Given the description of an element on the screen output the (x, y) to click on. 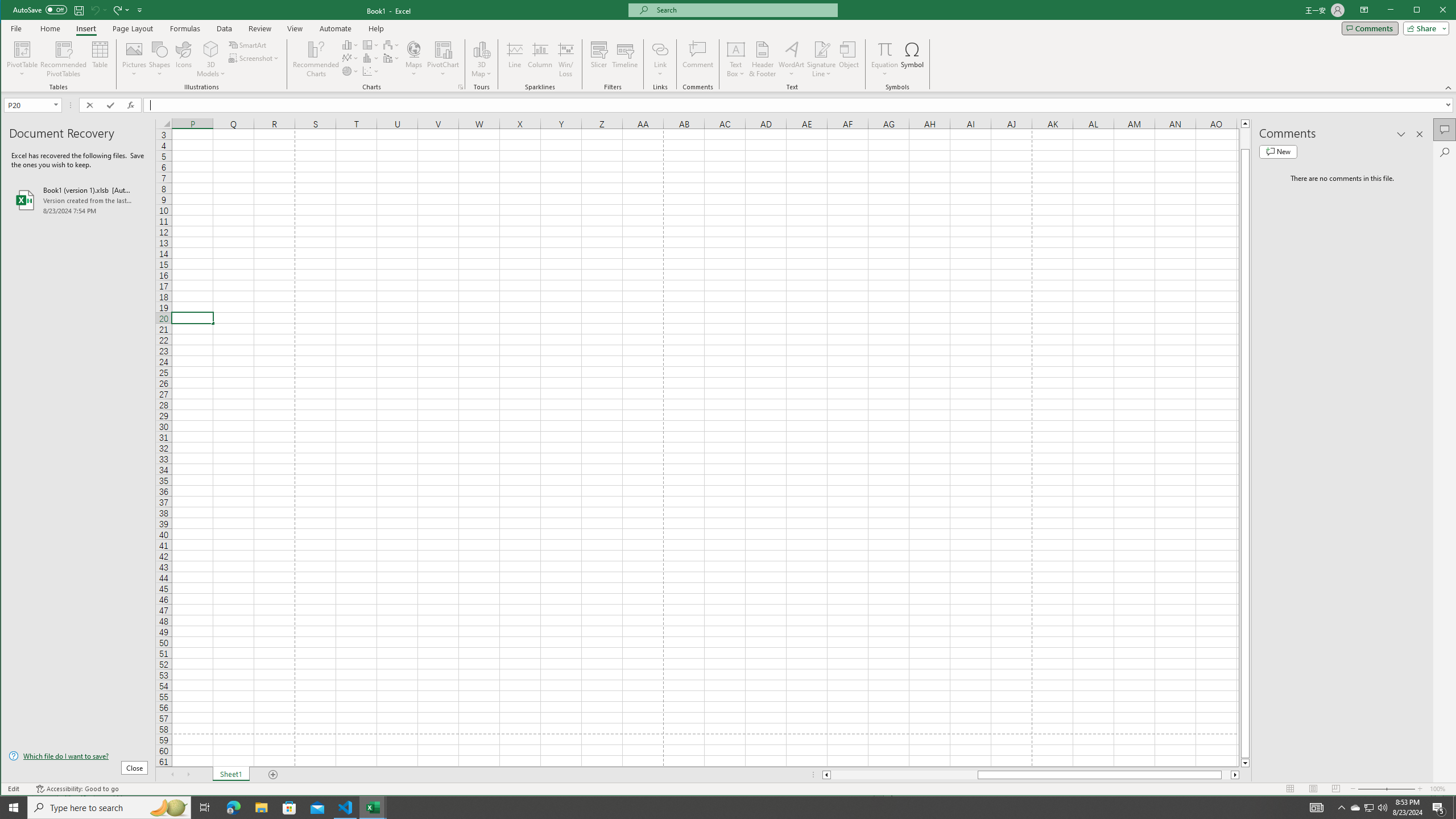
PivotChart (443, 48)
Home (50, 28)
3D Map (481, 59)
Insert Column or Bar Chart (350, 44)
AutoSave (39, 9)
Insert Combo Chart (391, 57)
